Given the description of an element on the screen output the (x, y) to click on. 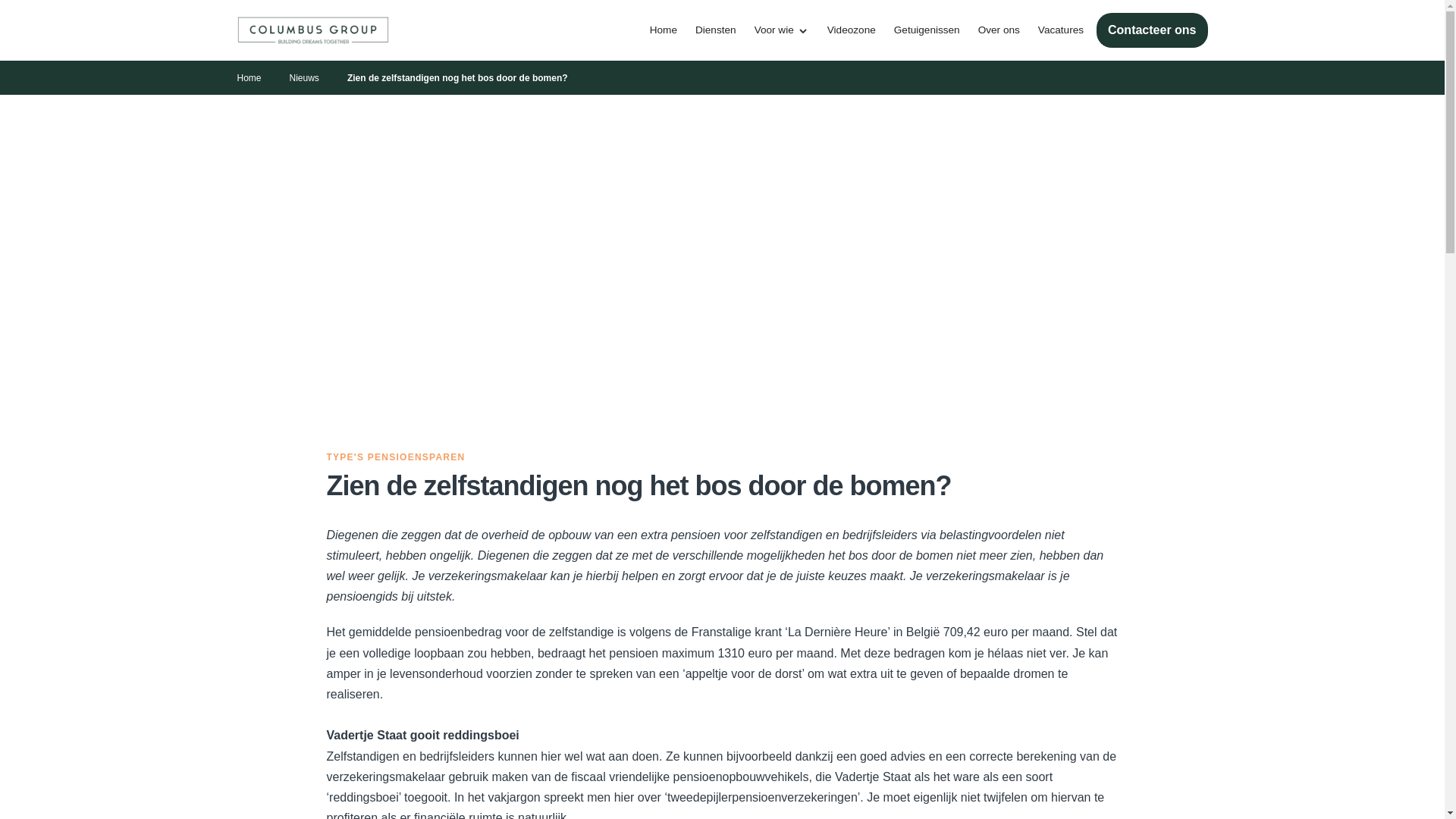
Home Element type: text (663, 29)
Videozone Element type: text (851, 29)
Zien de zelfstandigen nog het bos door de bomen? Element type: text (457, 78)
Vacatures Element type: text (1060, 29)
Home Element type: text (248, 78)
Diensten Element type: text (715, 29)
Contacteer ons Element type: text (1151, 29)
Over ons Element type: text (999, 29)
Getuigenissen Element type: text (926, 29)
Nieuws Element type: text (304, 78)
